Given the description of an element on the screen output the (x, y) to click on. 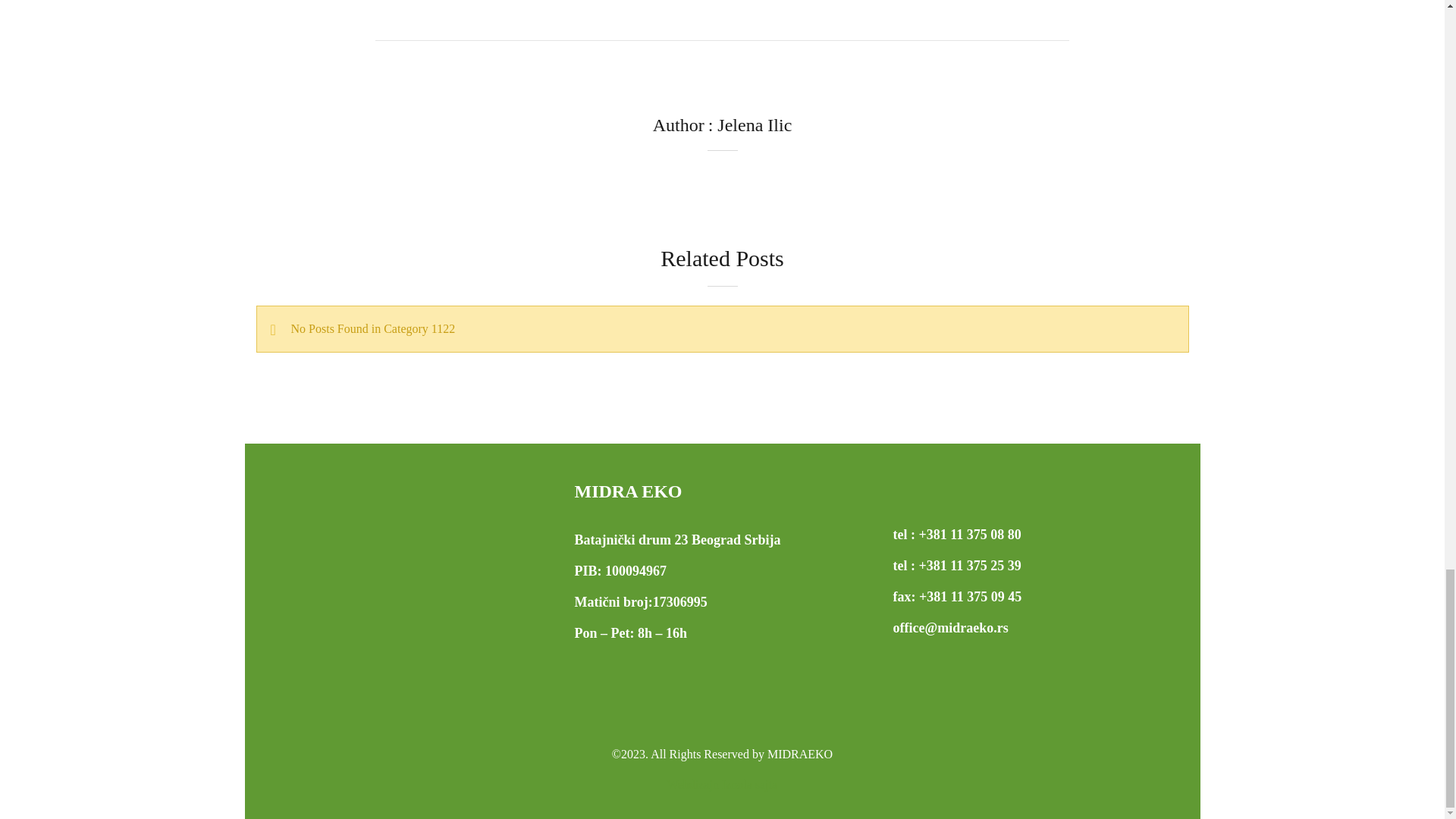
Jelena Ilic (754, 125)
Izrada sajta (721, 784)
MIDRAEKO (799, 753)
Webdizajn Izrada sajta (721, 784)
